Given the description of an element on the screen output the (x, y) to click on. 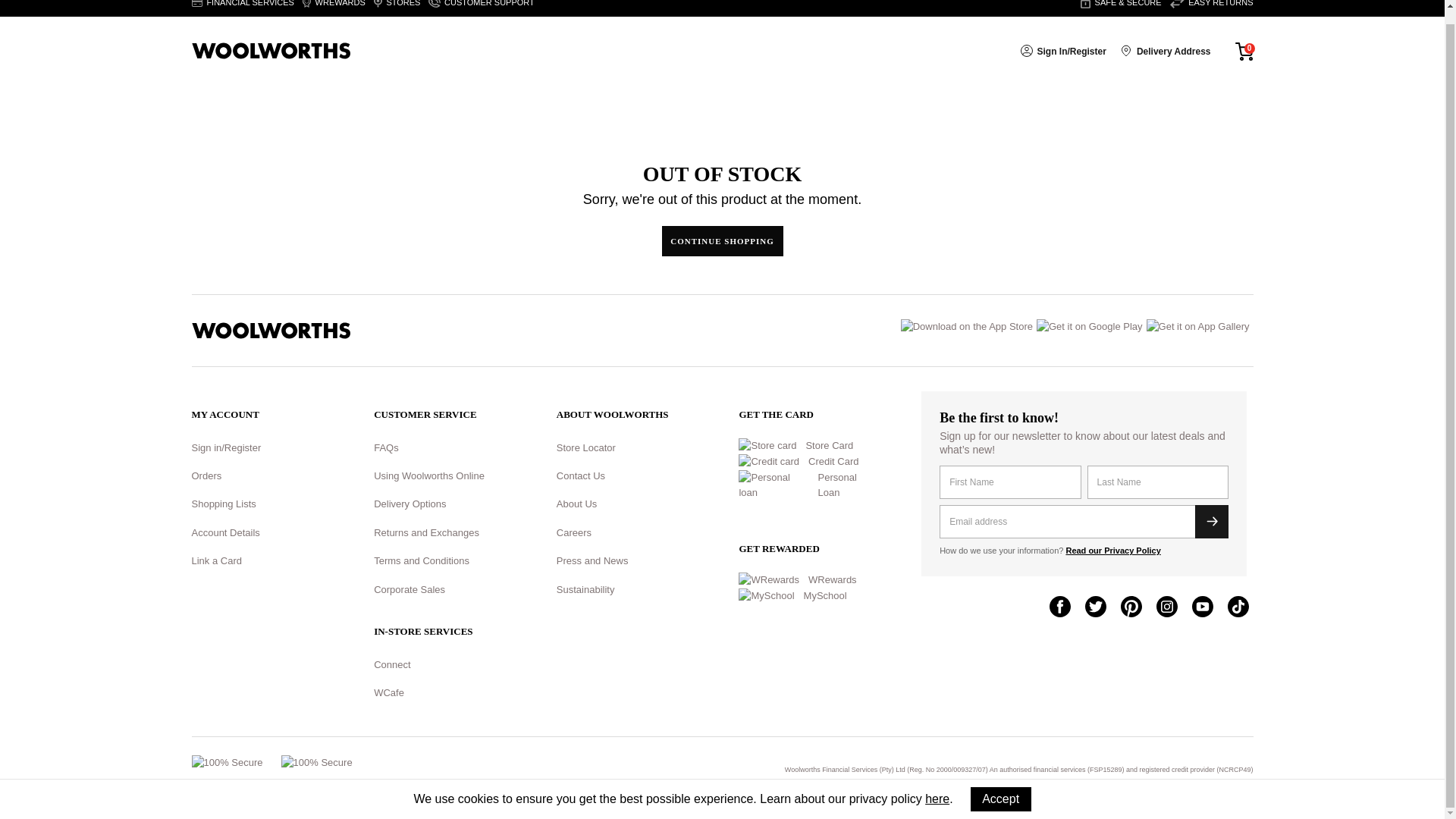
Credit Card (829, 462)
FINANCIAL SERVICES (242, 8)
Store Card (824, 446)
WCafe (389, 692)
Terms and Conditions (421, 560)
Wrewards (333, 8)
FAQs (386, 447)
Using Woolworths Online (429, 475)
WRewards (828, 580)
Sustainability (585, 589)
